Given the description of an element on the screen output the (x, y) to click on. 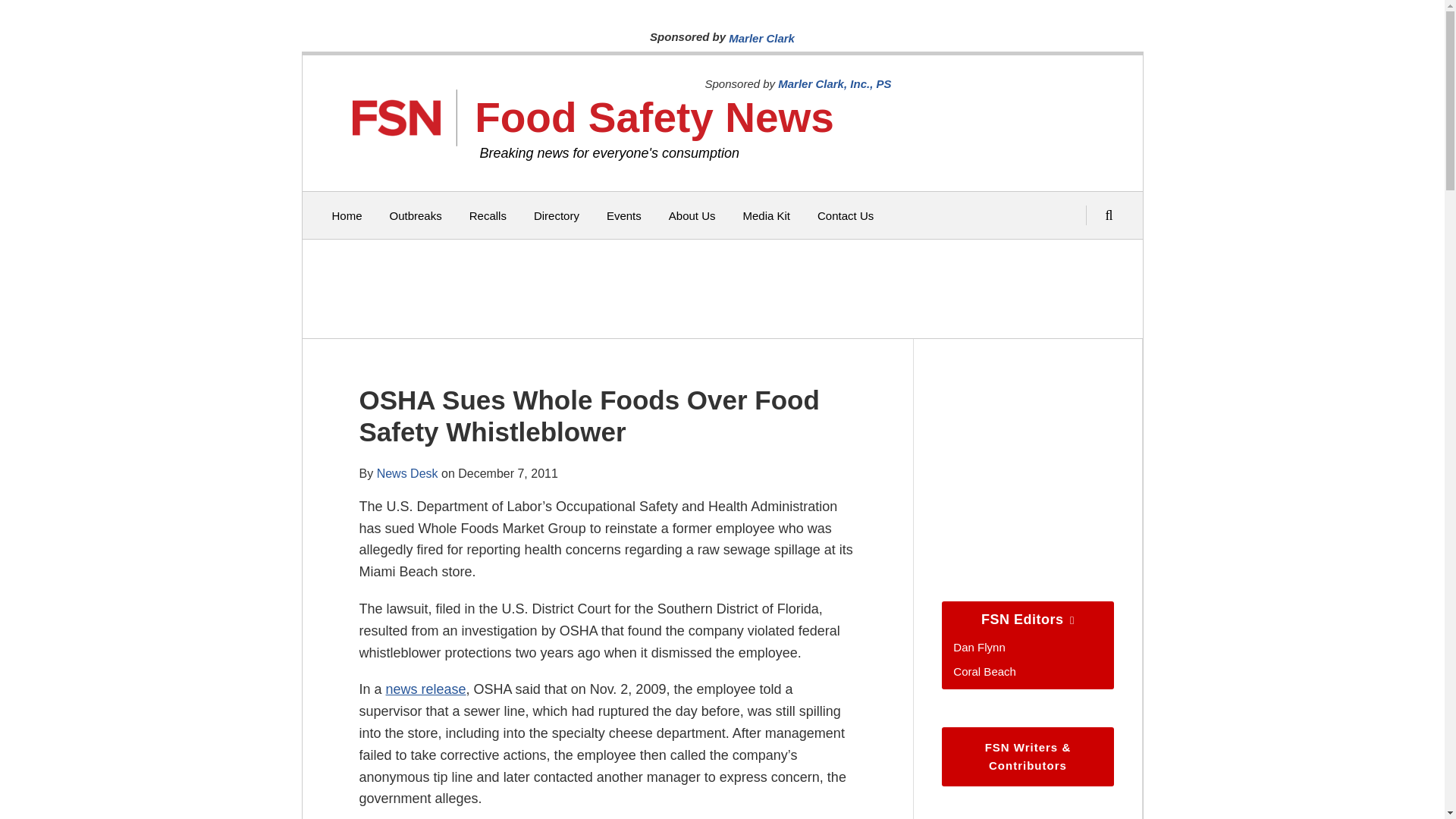
Marler Clark, Inc., PS (834, 83)
Home (346, 215)
About Us (692, 215)
Contact Us (844, 215)
Recalls (487, 215)
Media Kit (766, 215)
Food Safety News (654, 117)
Advertisement (718, 288)
Dan Flynn (978, 645)
Directory (556, 215)
